Given the description of an element on the screen output the (x, y) to click on. 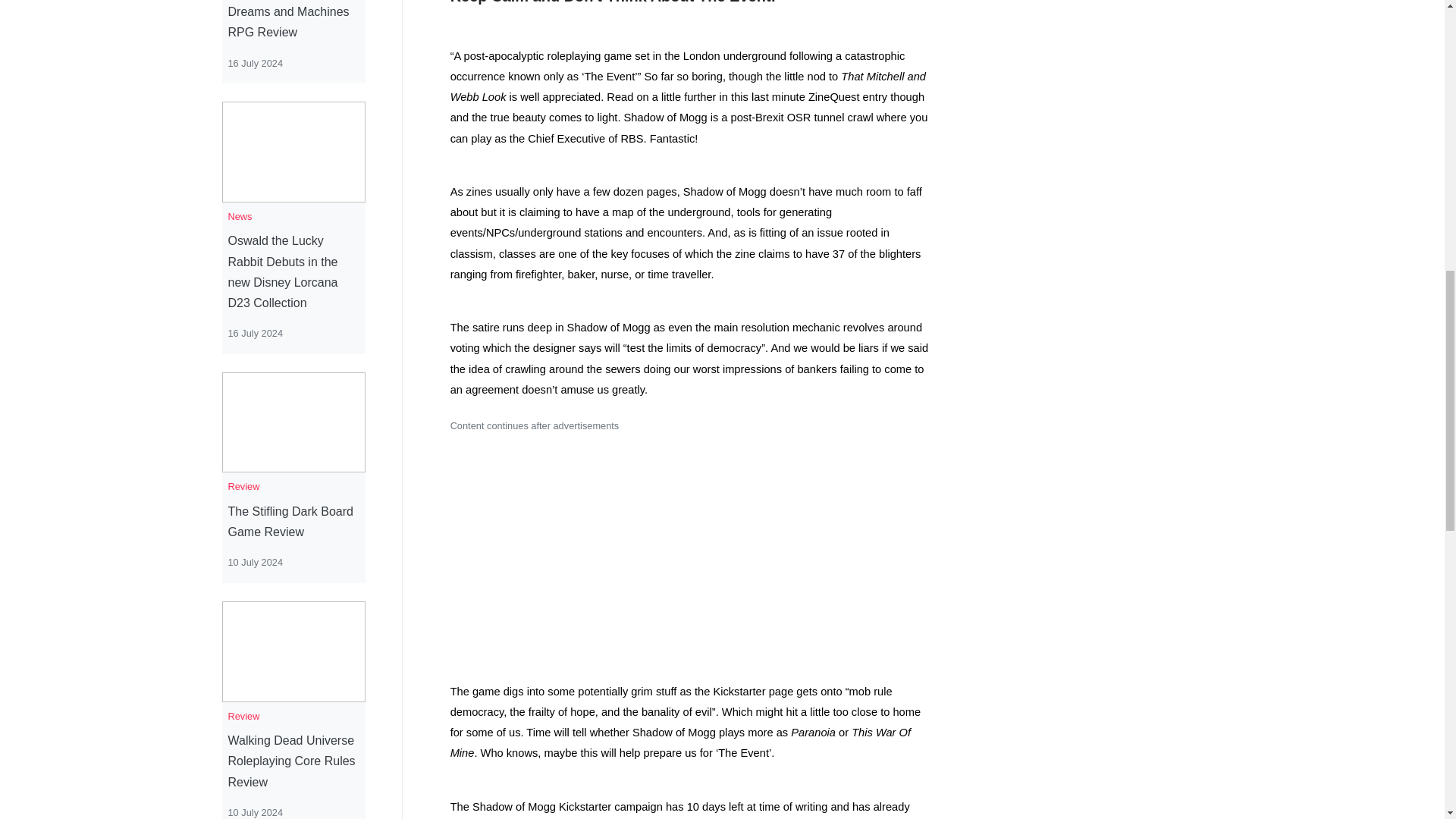
Dreams and Machines RPG Review (292, 21)
